Given the description of an element on the screen output the (x, y) to click on. 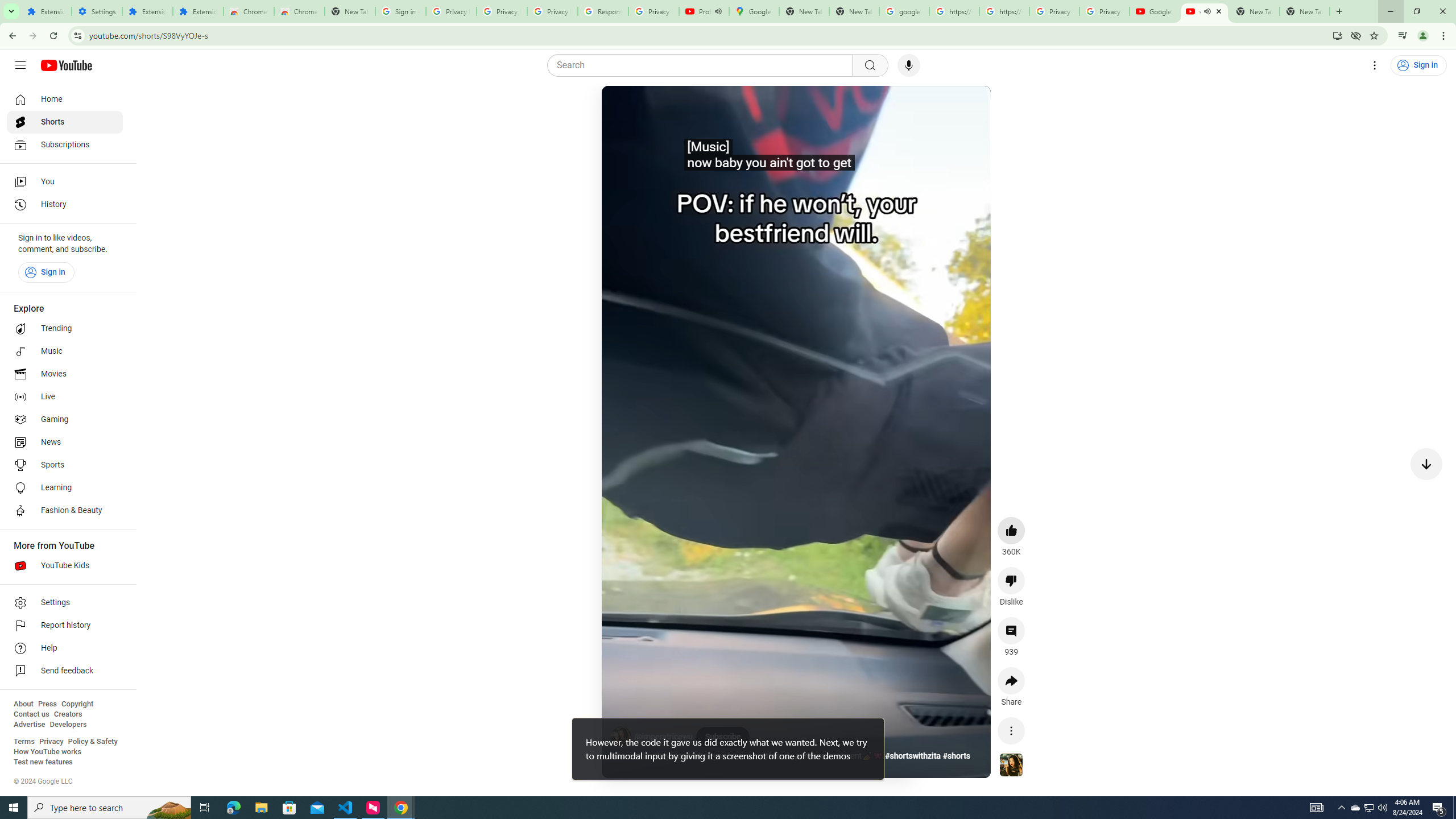
https://scholar.google.com/ (1004, 11)
Search with your voice (908, 65)
Chrome Web Store (248, 11)
Google - YouTube (1154, 11)
Press (46, 703)
Google Maps (753, 11)
Next video (1426, 463)
Mute (660, 108)
Mute tab (1206, 10)
Send feedback (64, 671)
Sports (64, 464)
You (1422, 35)
